Given the description of an element on the screen output the (x, y) to click on. 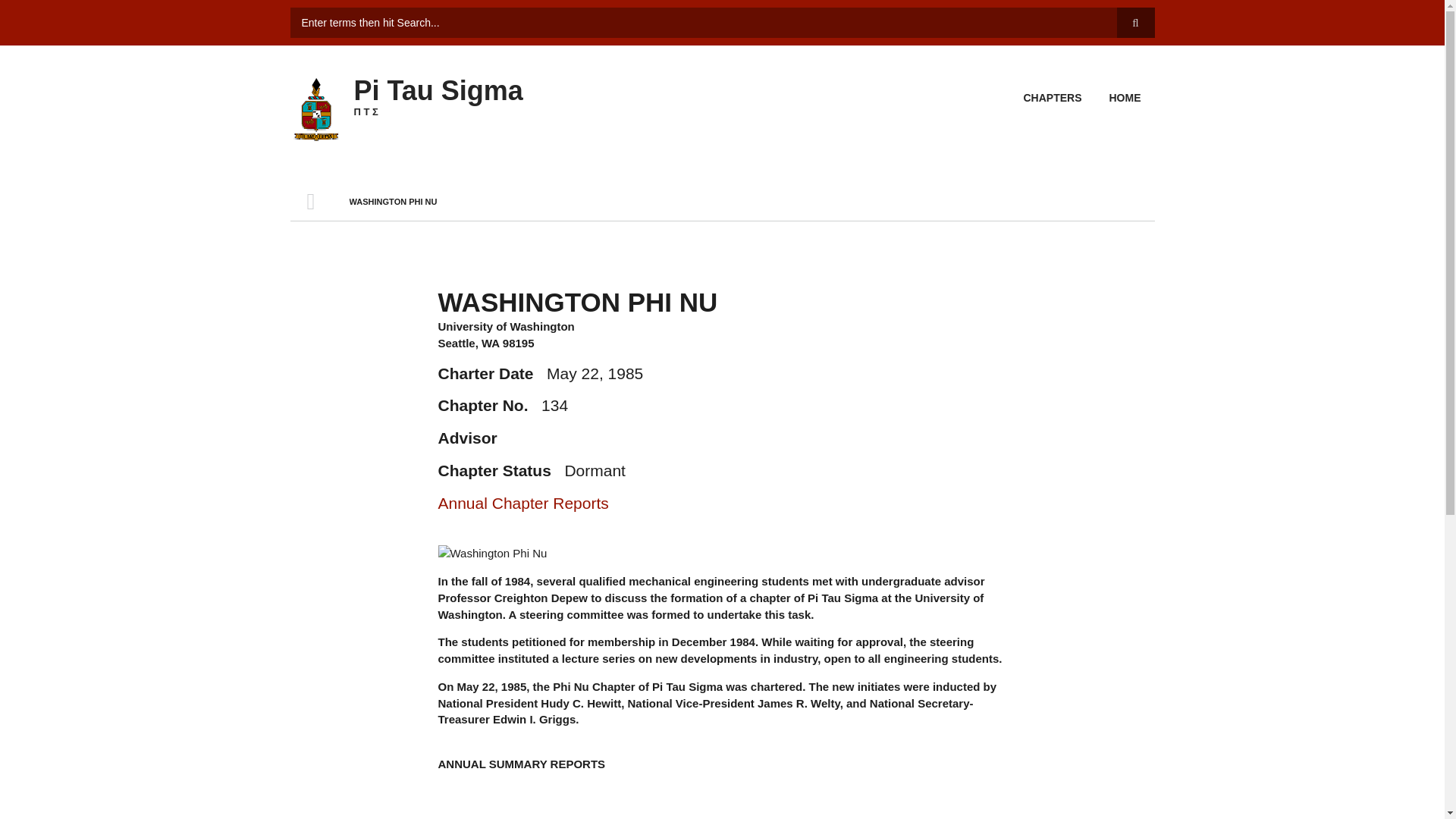
CHAPTERS (1051, 98)
Search (1135, 22)
Pi Tau Sigma Chapters (1051, 98)
HOME (1124, 98)
Search (1135, 22)
Home (315, 106)
HOME (310, 201)
Search (1135, 22)
Pi Tau Sigma (437, 90)
